Given the description of an element on the screen output the (x, y) to click on. 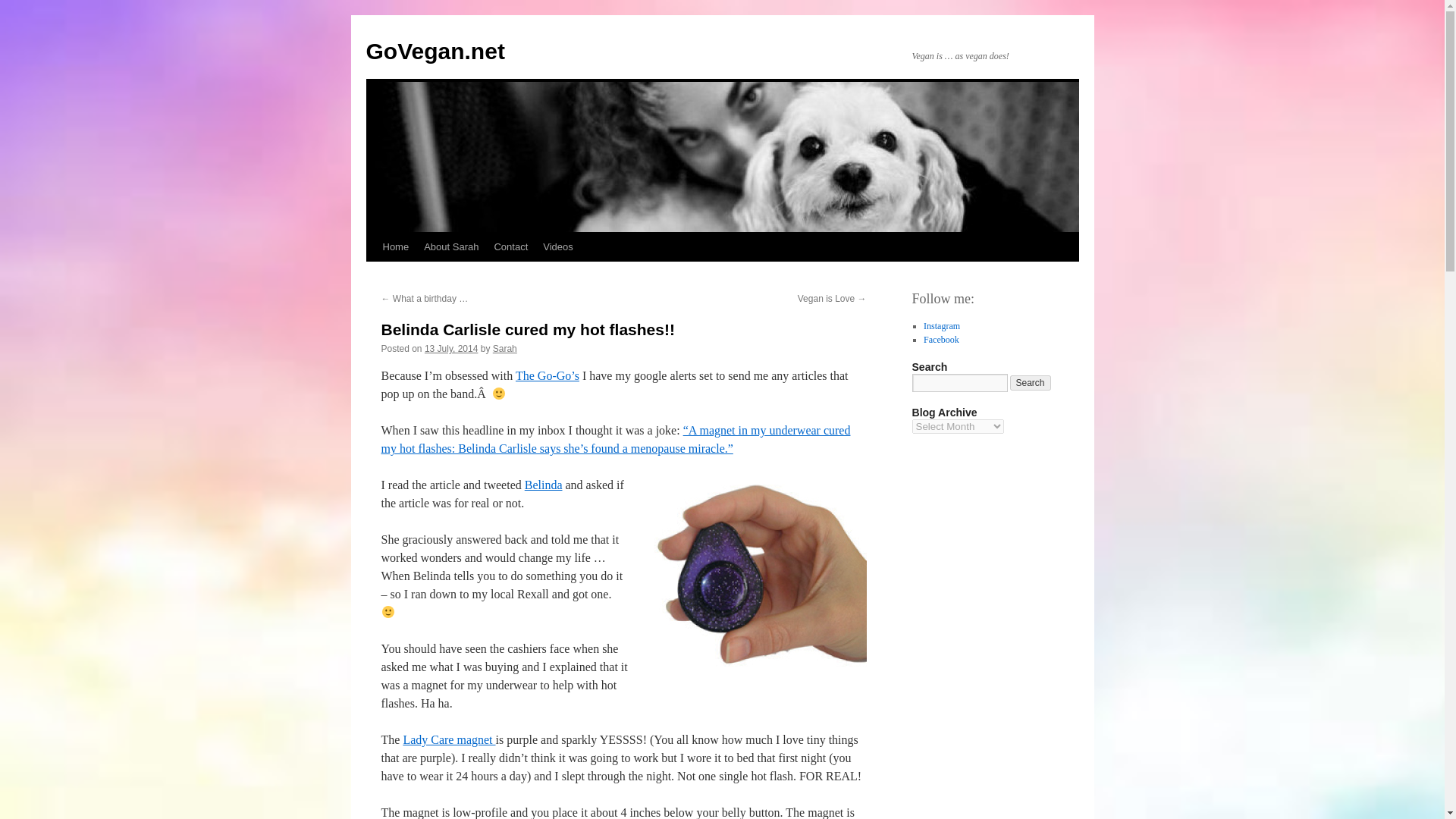
Videos (557, 246)
Search (1030, 382)
13 July, 2014 (452, 348)
Sarah (504, 348)
Contact (510, 246)
Belinda (543, 484)
Instagram (941, 326)
Home (395, 246)
Lady Care magnet (449, 739)
GoVegan.net (434, 50)
